Given the description of an element on the screen output the (x, y) to click on. 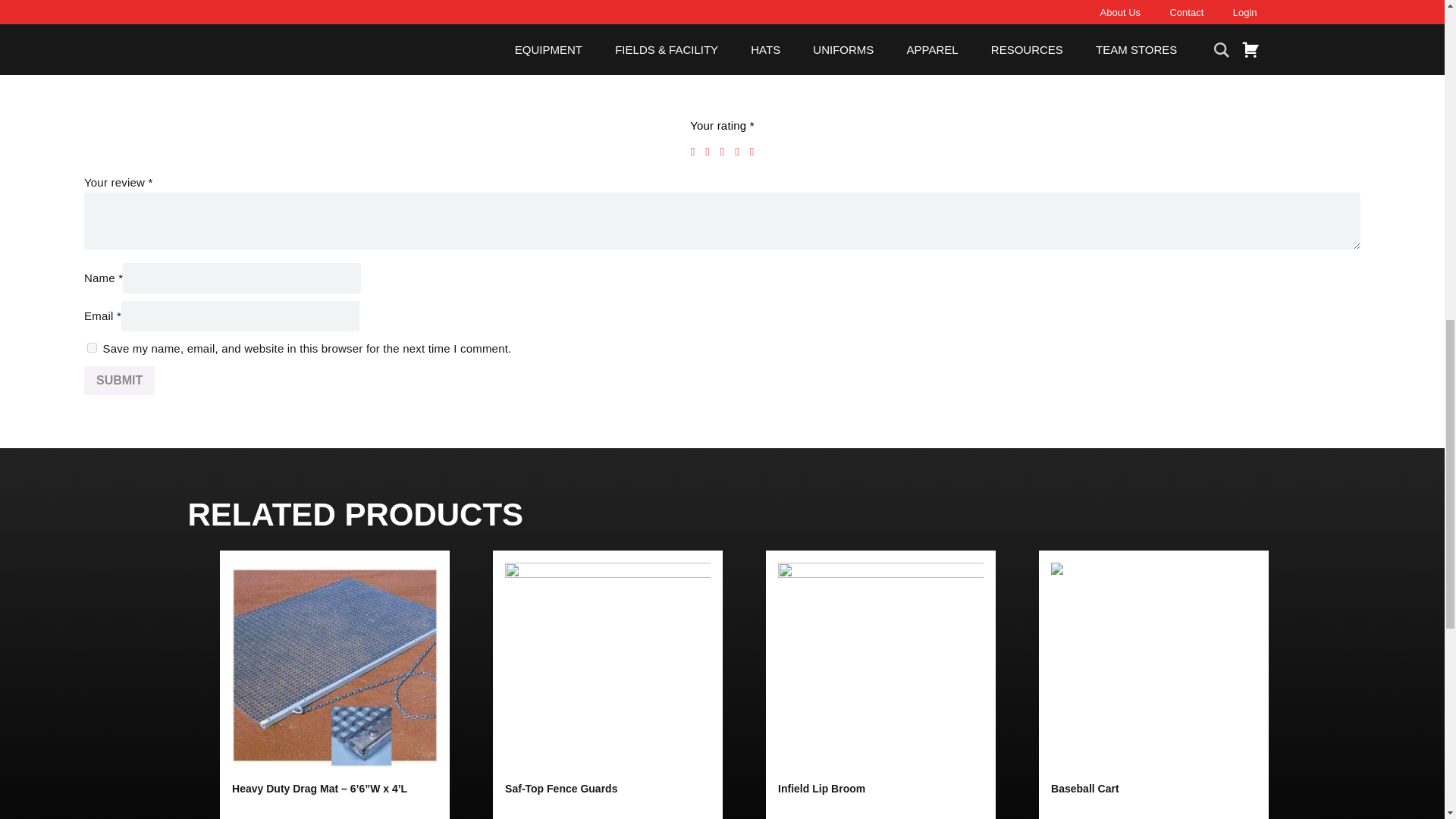
yes (92, 347)
Submit (119, 380)
